Given the description of an element on the screen output the (x, y) to click on. 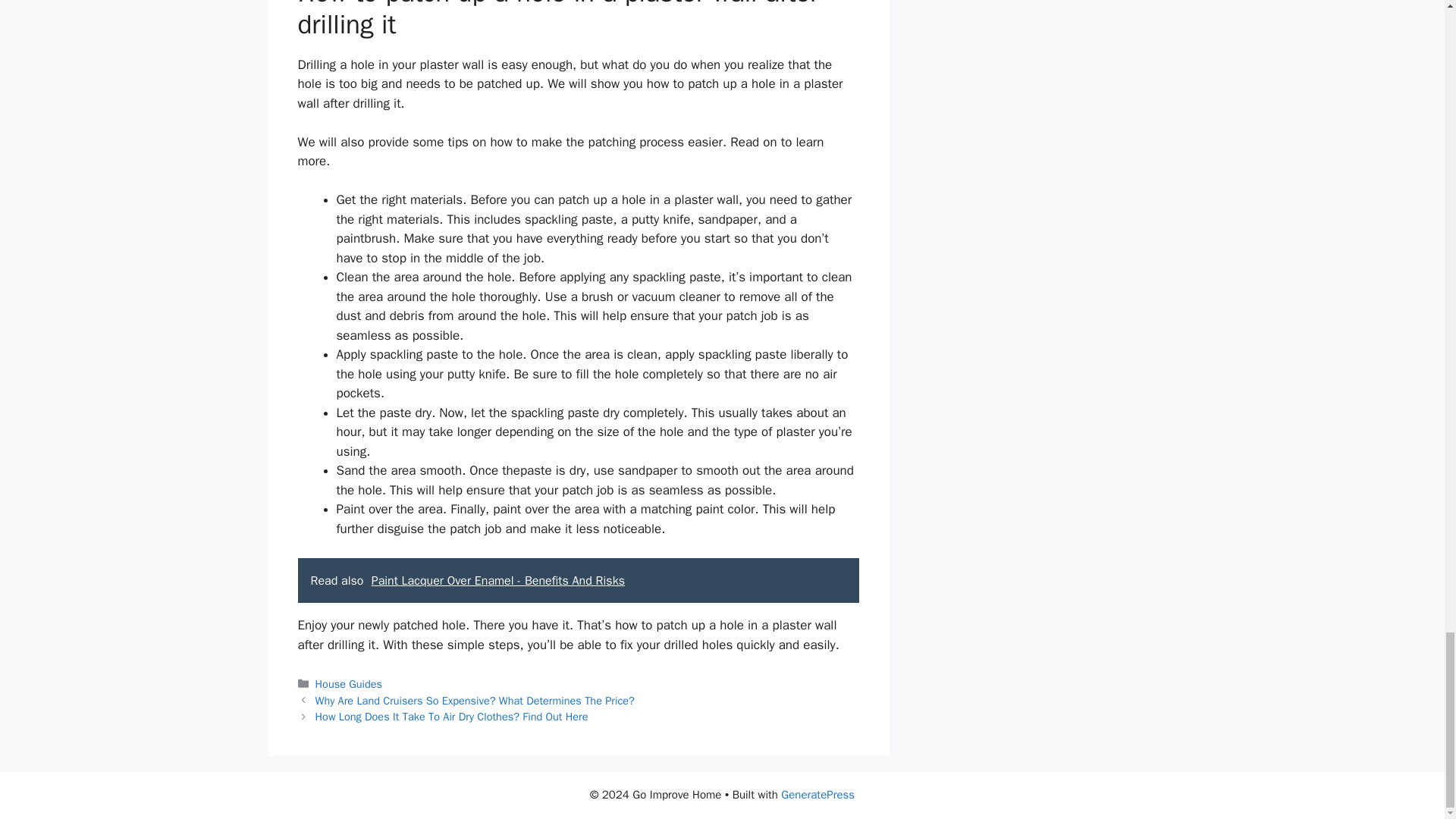
How Long Does It Take To Air Dry Clothes? Find Out Here (451, 716)
Read also  Paint Lacquer Over Enamel - Benefits And Risks (578, 580)
House Guides (348, 684)
GeneratePress (817, 794)
